Given the description of an element on the screen output the (x, y) to click on. 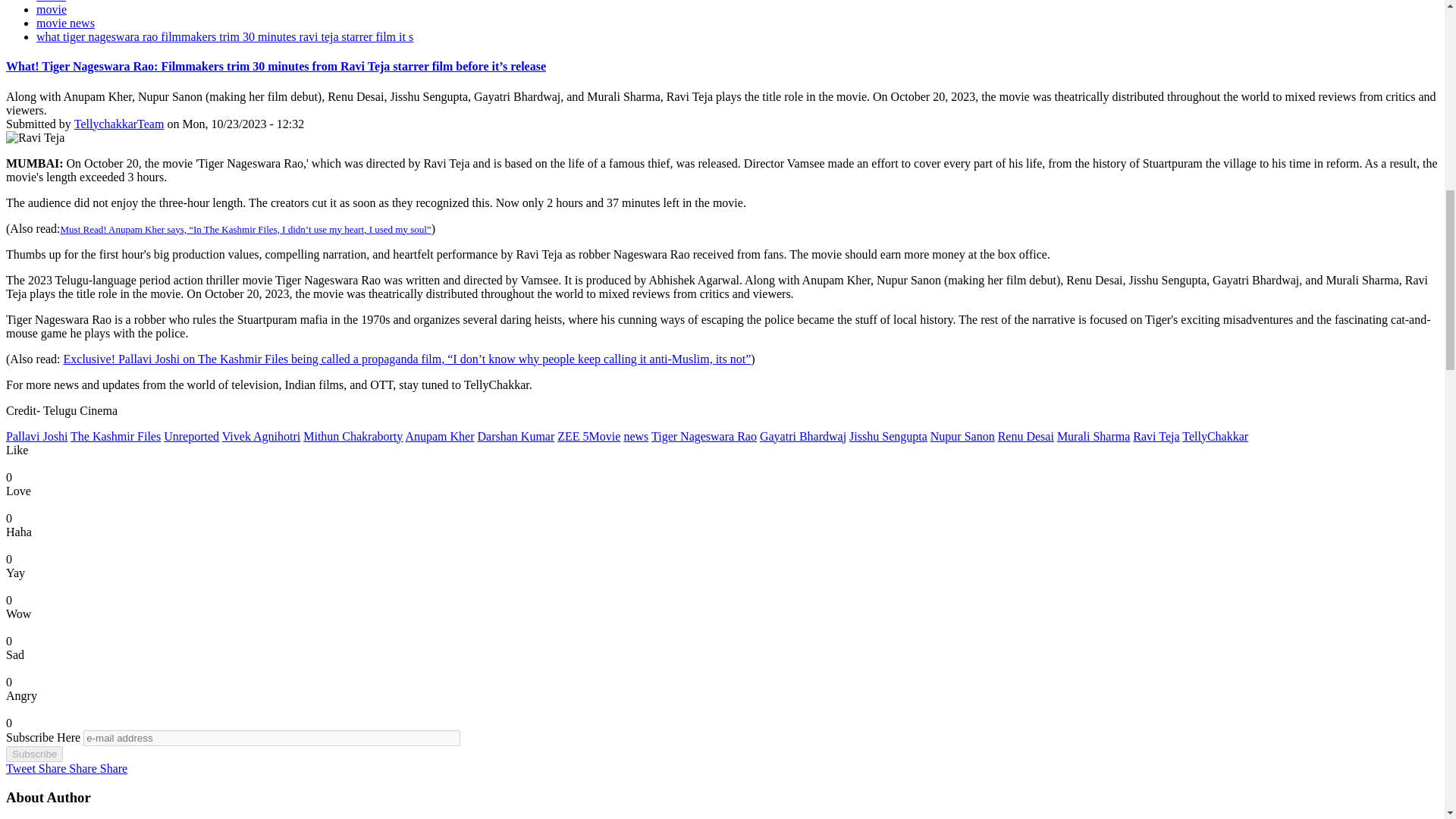
Ravi Teja (34, 137)
View user profile. (119, 123)
